Given the description of an element on the screen output the (x, y) to click on. 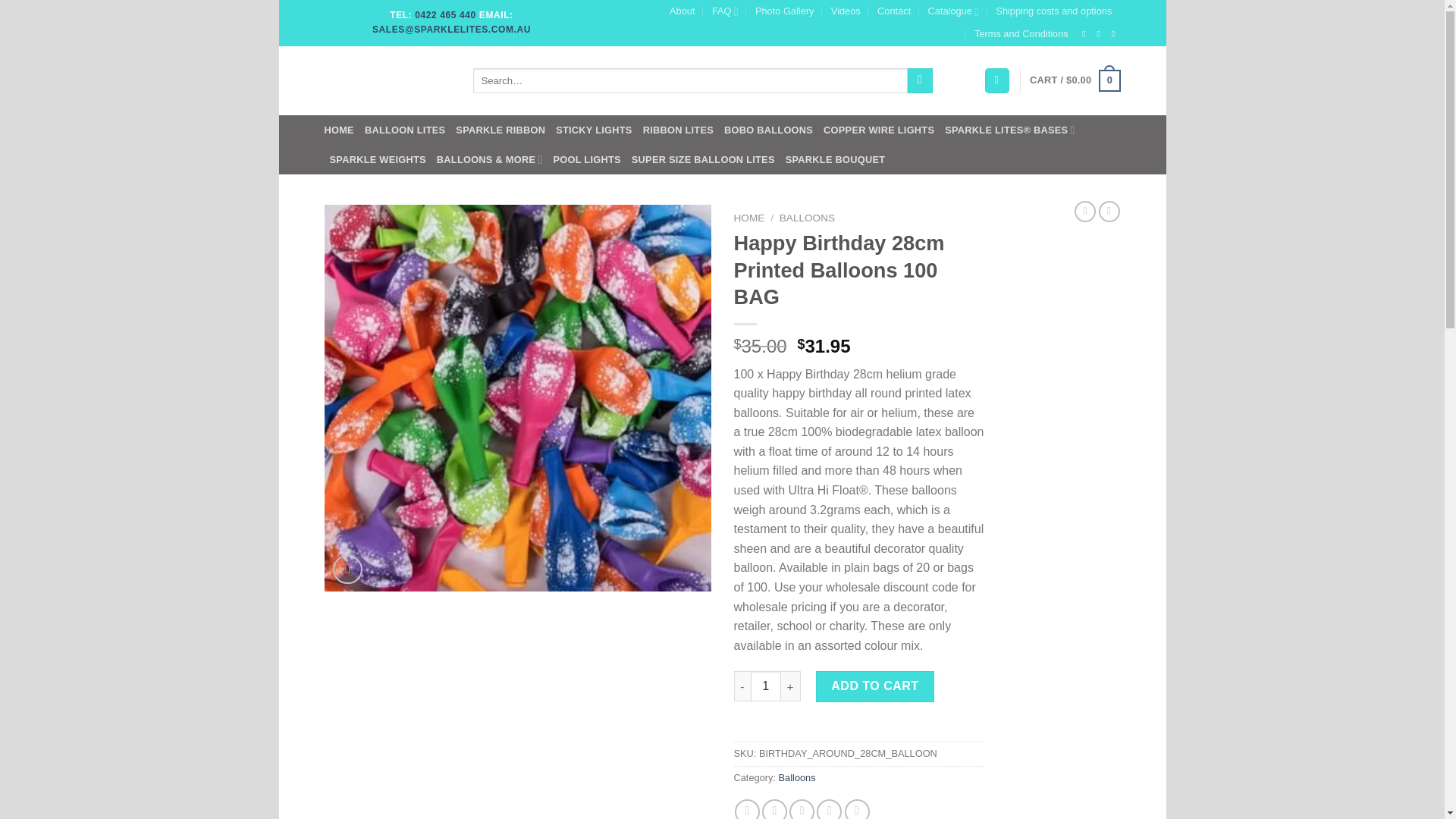
Qty (765, 685)
Pin on Pinterest (828, 809)
Email to a Friend (801, 809)
Share on Twitter (774, 809)
HOME (338, 130)
Zoom (347, 569)
SPARKLE RIBBON (499, 130)
FAQ (724, 11)
0422 465 440 (445, 14)
